Given the description of an element on the screen output the (x, y) to click on. 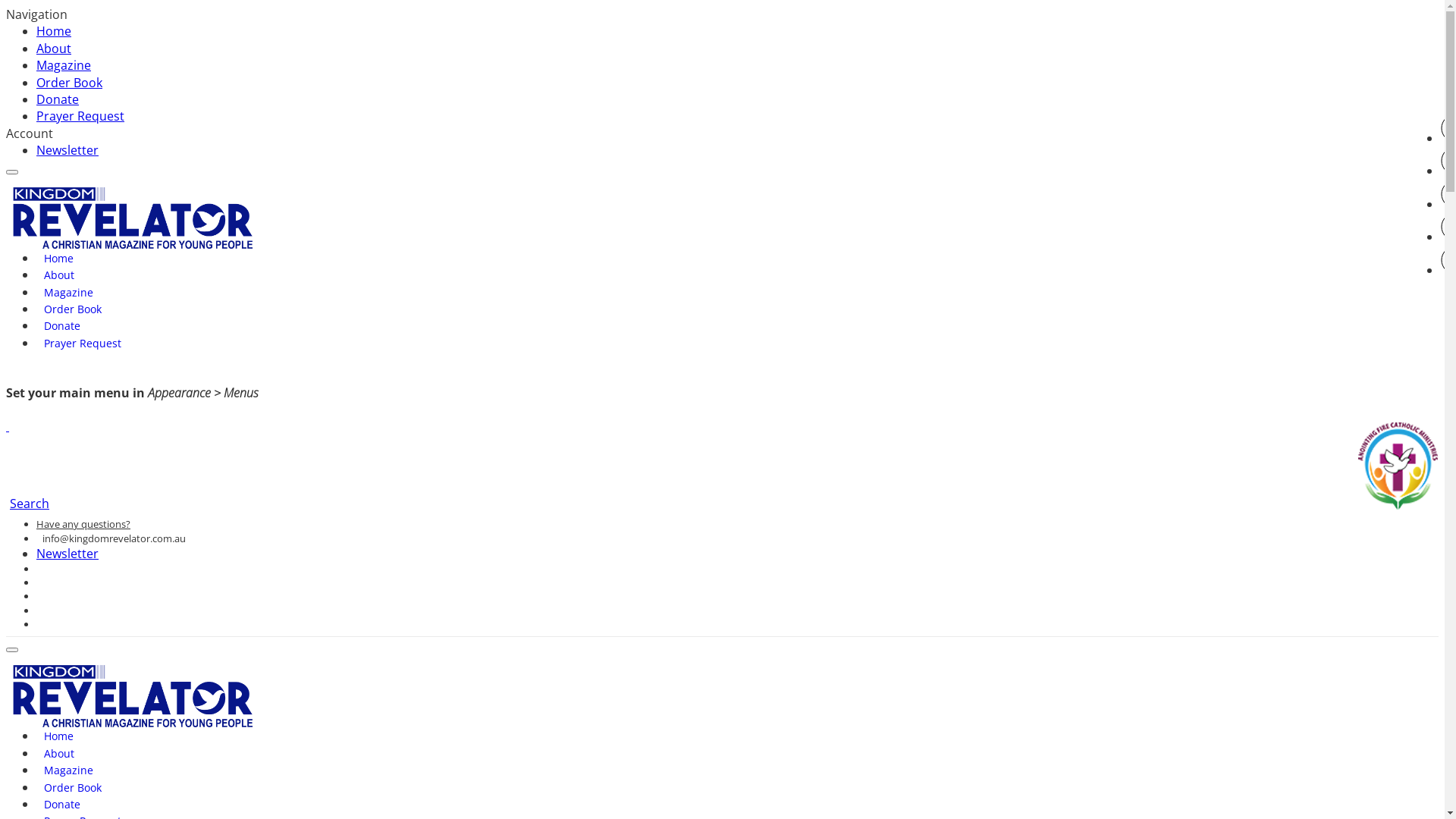
Search Element type: text (29, 503)
Home Element type: text (53, 30)
Donate Element type: text (57, 99)
Order Book Element type: text (72, 311)
Prayer Request Element type: text (82, 345)
Have any questions? Element type: text (83, 523)
  Element type: text (7, 425)
Newsletter Element type: text (67, 149)
Donate Element type: text (61, 328)
Magazine Element type: text (68, 295)
Order Book Element type: text (72, 790)
Newsletter Element type: text (67, 553)
Home Element type: text (58, 738)
Magazine Element type: text (68, 772)
Home Element type: text (58, 260)
Prayer Request Element type: text (80, 115)
About Element type: text (58, 756)
About Element type: text (53, 48)
Magazine Element type: text (63, 64)
About Element type: text (58, 277)
Order Book Element type: text (69, 82)
